Given the description of an element on the screen output the (x, y) to click on. 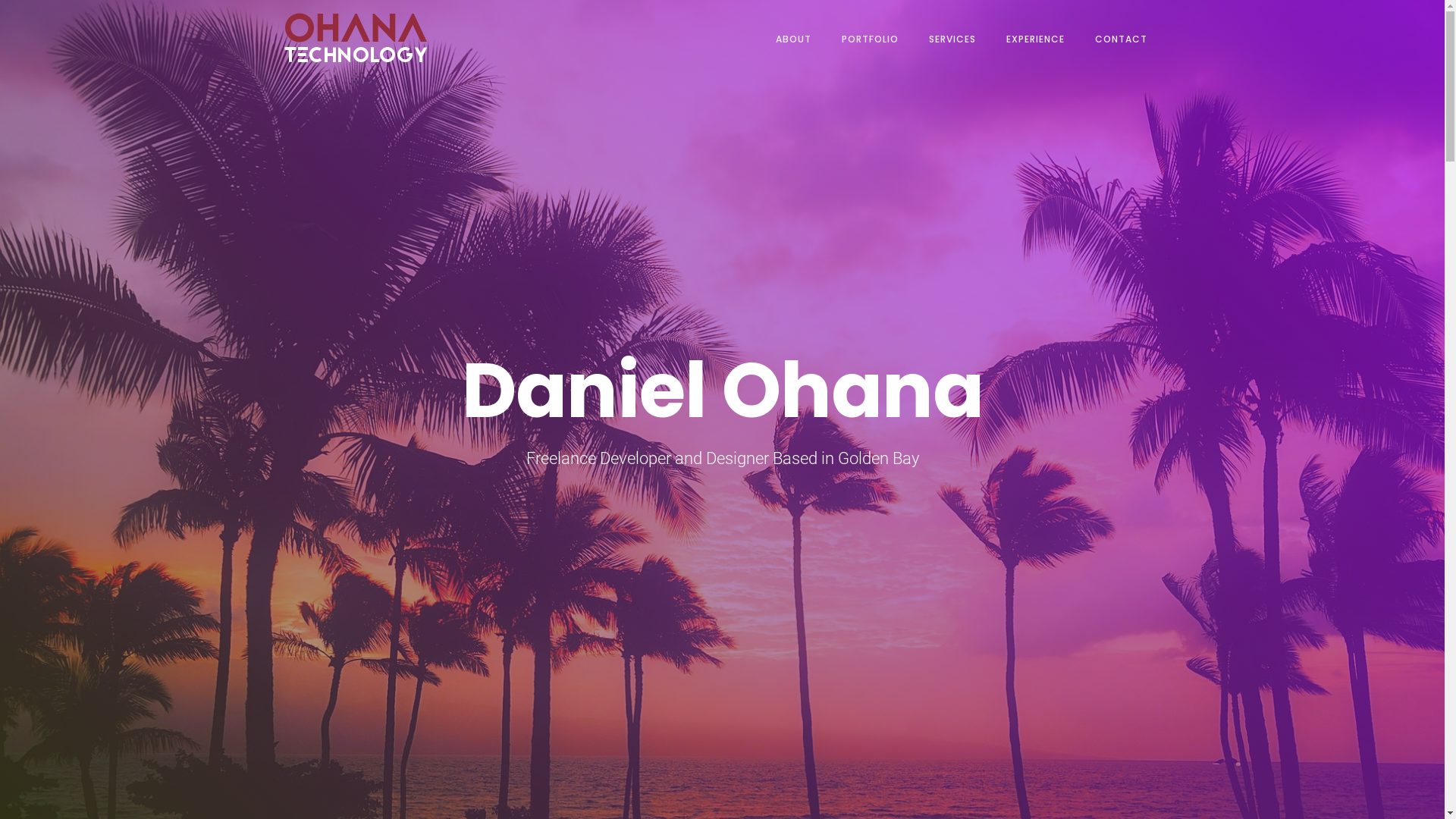
ABOUT Element type: text (792, 39)
PORTFOLIO Element type: text (869, 39)
EXPERIENCE Element type: text (1034, 39)
CONTACT Element type: text (1120, 39)
SERVICES Element type: text (951, 39)
